Given the description of an element on the screen output the (x, y) to click on. 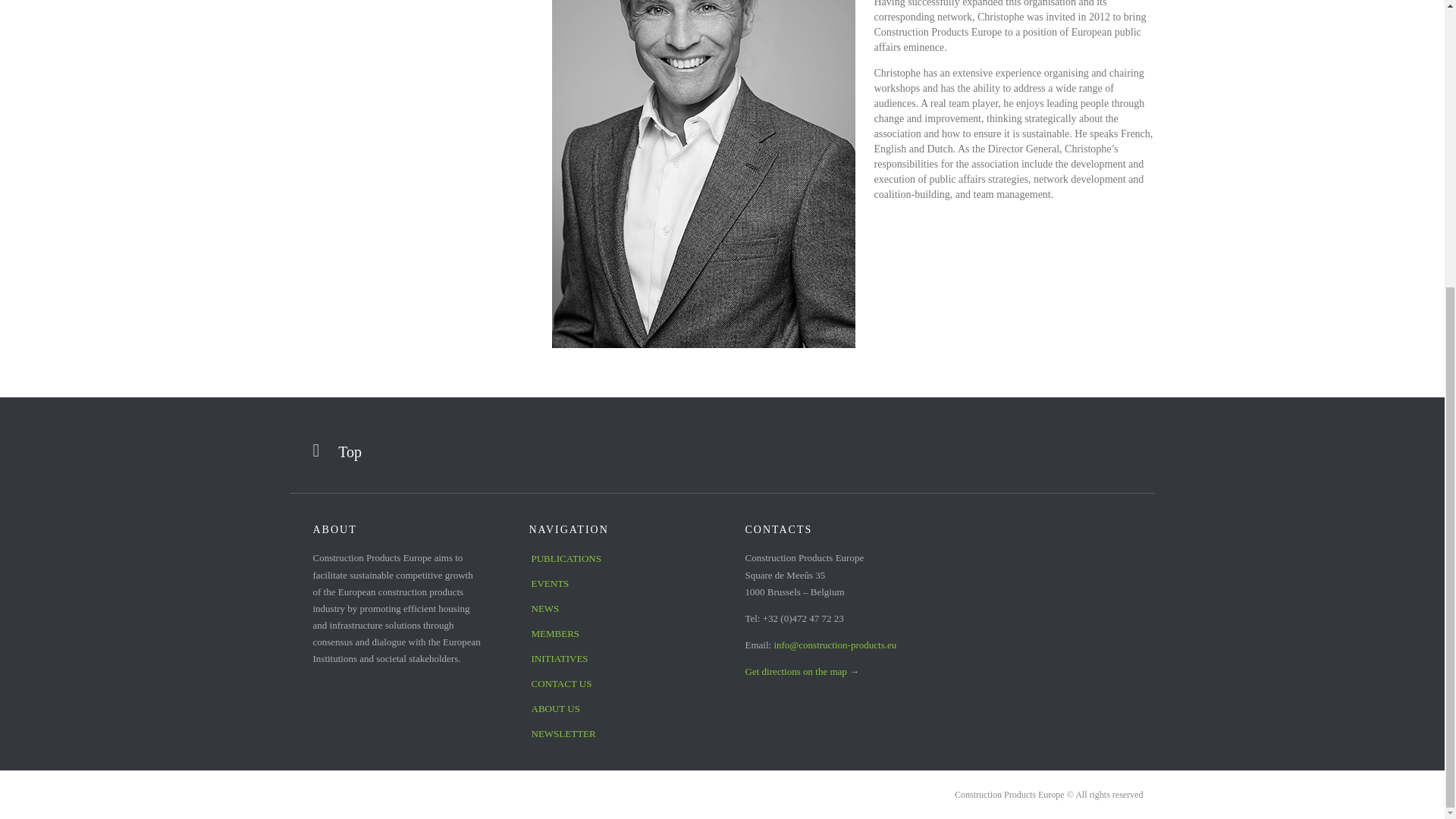
ABOUT US (614, 709)
Get directions on the map (794, 671)
NEWSLETTER (614, 734)
INITIATIVES (614, 659)
NEWS (614, 609)
PUBLICATIONS (614, 559)
CONTACT US (614, 684)
MEMBERS (614, 634)
EVENTS (614, 584)
